Given the description of an element on the screen output the (x, y) to click on. 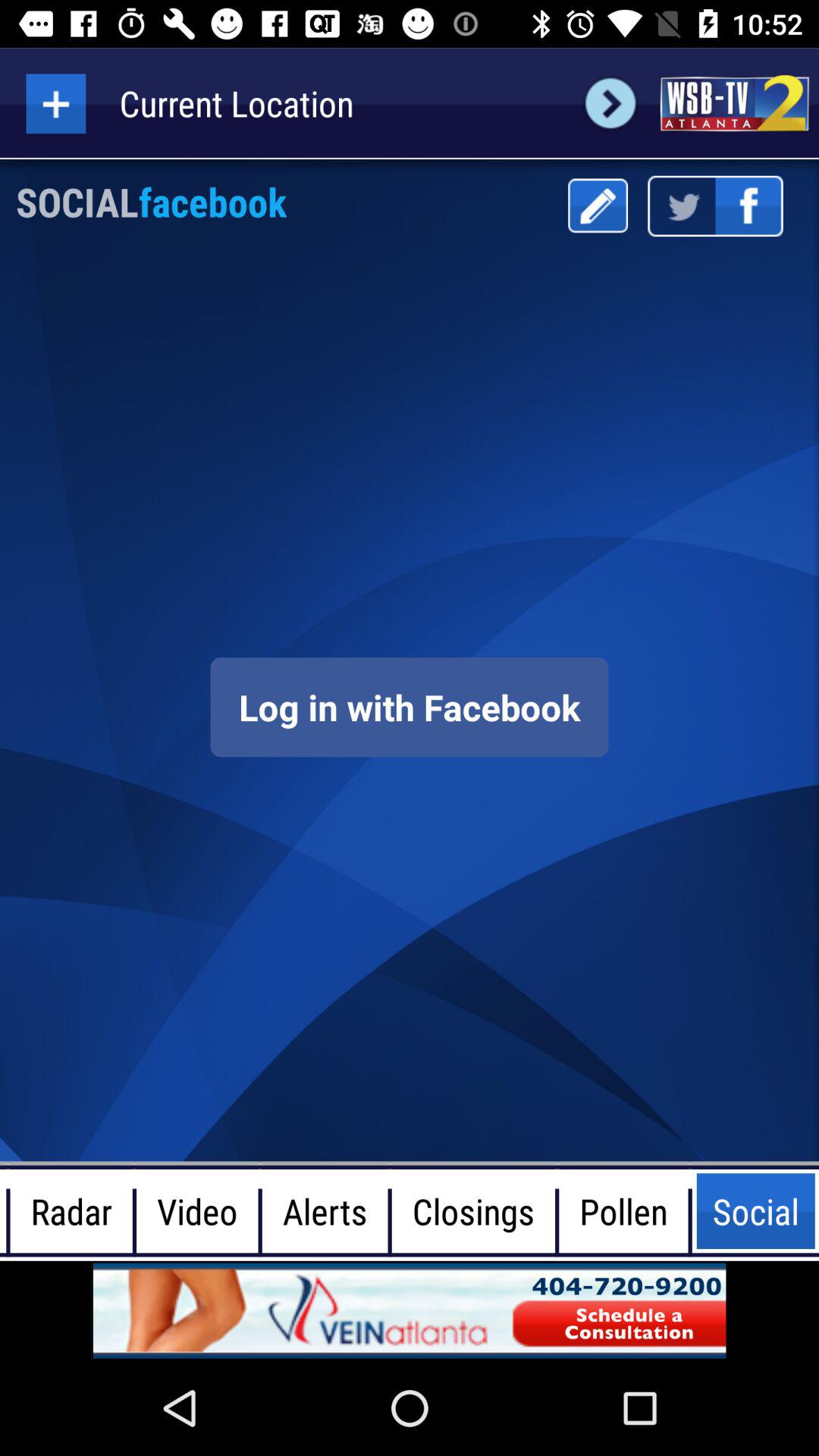
toggle login with facebook (409, 707)
